Given the description of an element on the screen output the (x, y) to click on. 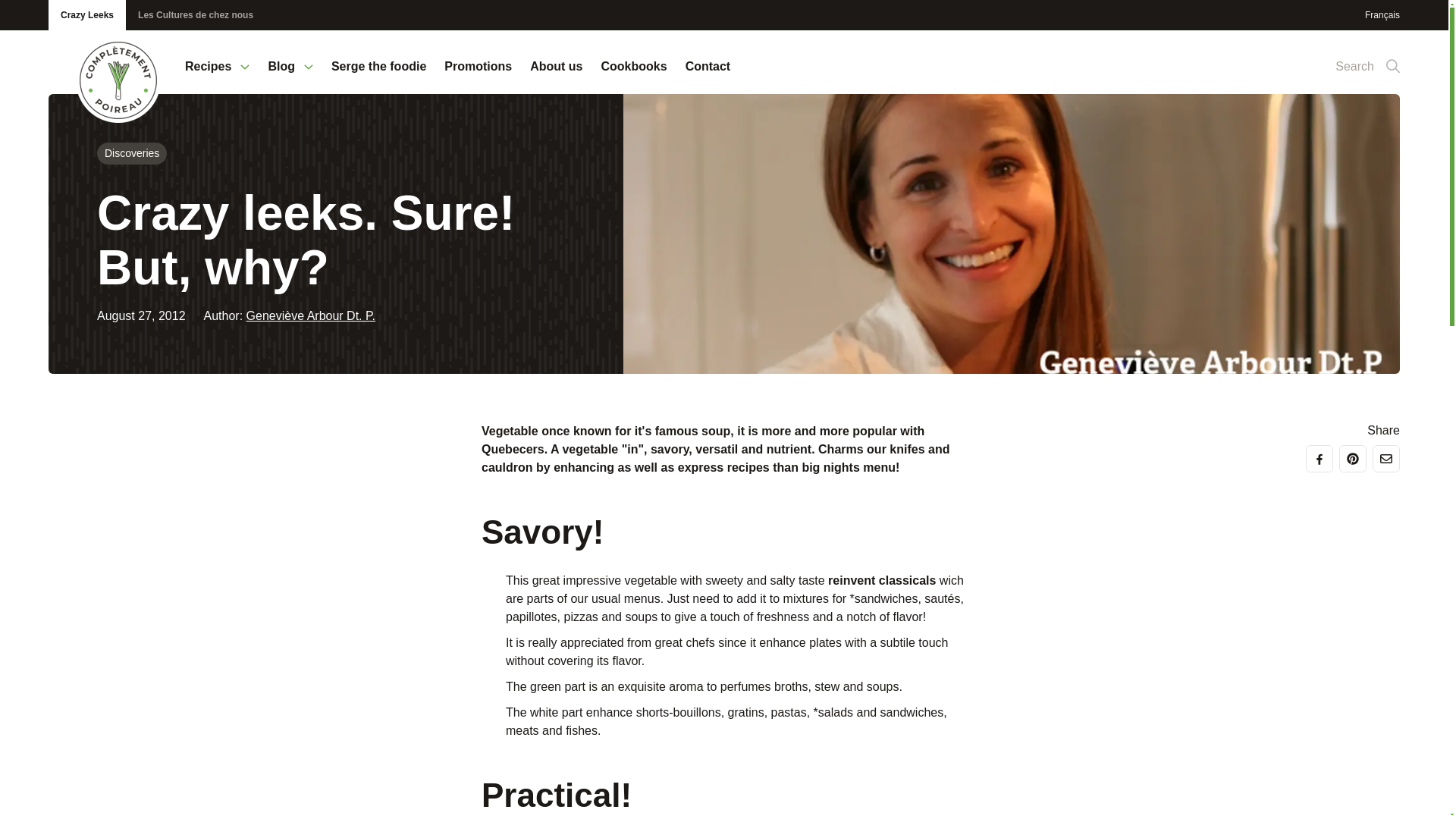
Blog (290, 75)
Promotions (478, 75)
Serge the foodie (378, 75)
Contact (707, 75)
About us (555, 75)
Recipes (216, 75)
Les Cultures de chez nous (194, 15)
Cookbooks (632, 75)
Crazy Leeks (86, 15)
